Given the description of an element on the screen output the (x, y) to click on. 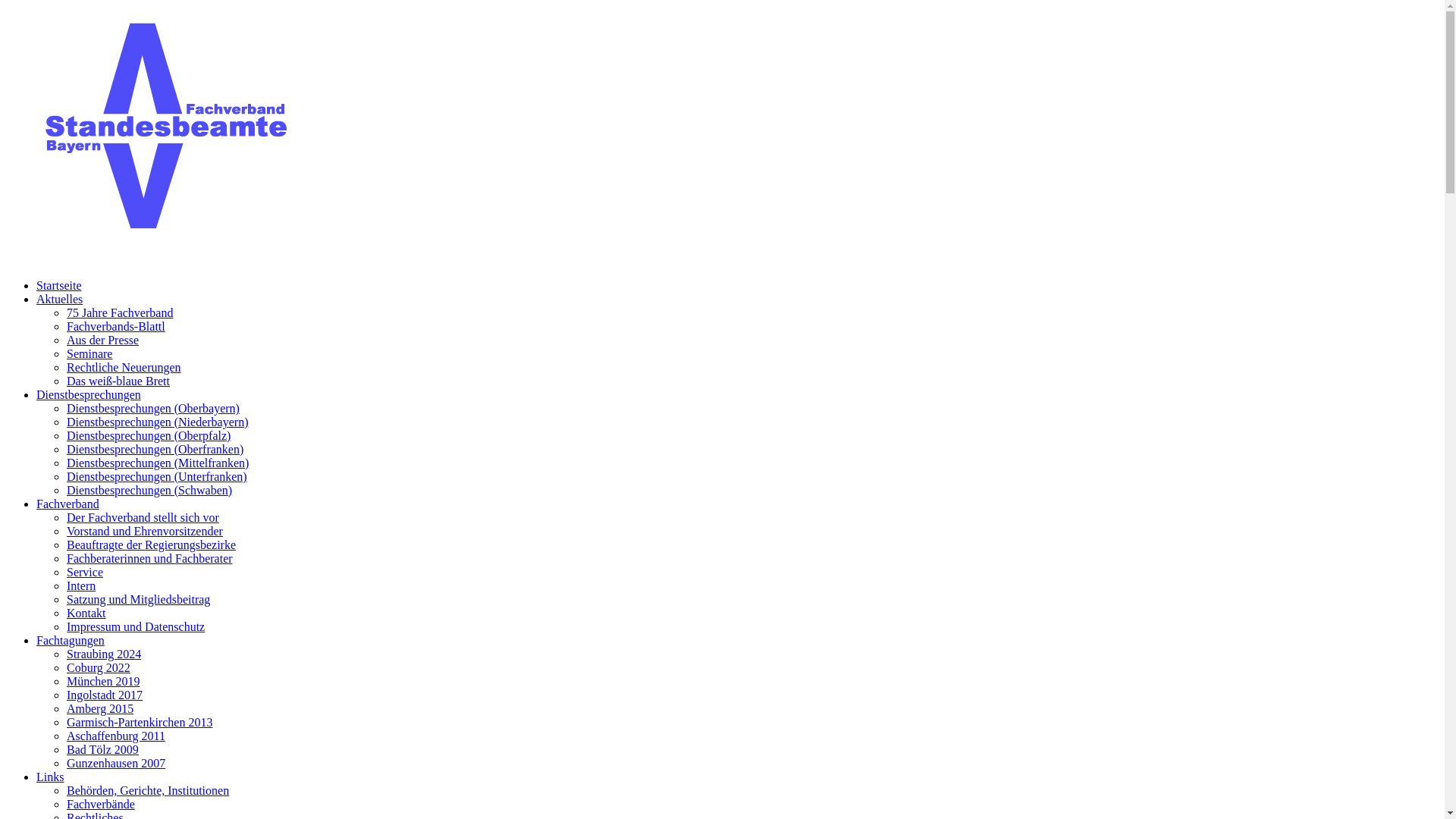
Intern Element type: text (80, 585)
Garmisch-Partenkirchen 2013 Element type: text (139, 721)
75 Jahre Fachverband Element type: text (119, 312)
Rechtliche Neuerungen Element type: text (123, 366)
Seminare Element type: text (89, 353)
Fachberaterinnen und Fachberater Element type: text (149, 558)
Aus der Presse Element type: text (102, 339)
Amberg 2015 Element type: text (99, 708)
Aktuelles Element type: text (59, 298)
Dienstbesprechungen (Oberpfalz) Element type: text (148, 435)
Kontakt Element type: text (86, 612)
Links Element type: text (49, 776)
Dienstbesprechungen (Mittelfranken) Element type: text (157, 462)
Dienstbesprechungen Element type: text (88, 394)
Fachverband Element type: text (67, 503)
Gunzenhausen 2007 Element type: text (115, 762)
Startseite Element type: text (58, 285)
Ingolstadt 2017 Element type: text (104, 694)
Satzung und Mitgliedsbeitrag Element type: text (138, 599)
Fachverbands-Blattl Element type: text (115, 326)
Dienstbesprechungen (Unterfranken) Element type: text (156, 476)
Dienstbesprechungen (Oberfranken) Element type: text (154, 448)
Impressum und Datenschutz Element type: text (135, 626)
Service Element type: text (84, 571)
Dienstbesprechungen (Niederbayern) Element type: text (156, 421)
Vorstand und Ehrenvorsitzender Element type: text (144, 530)
Aschaffenburg 2011 Element type: text (115, 735)
Der Fachverband stellt sich vor Element type: text (142, 517)
Dienstbesprechungen (Schwaben) Element type: text (149, 489)
Coburg 2022 Element type: text (98, 667)
Dienstbesprechungen (Oberbayern) Element type: text (152, 407)
Beauftragte der Regierungsbezirke Element type: text (150, 544)
Fachtagungen Element type: text (70, 639)
Straubing 2024 Element type: text (103, 653)
